Given the description of an element on the screen output the (x, y) to click on. 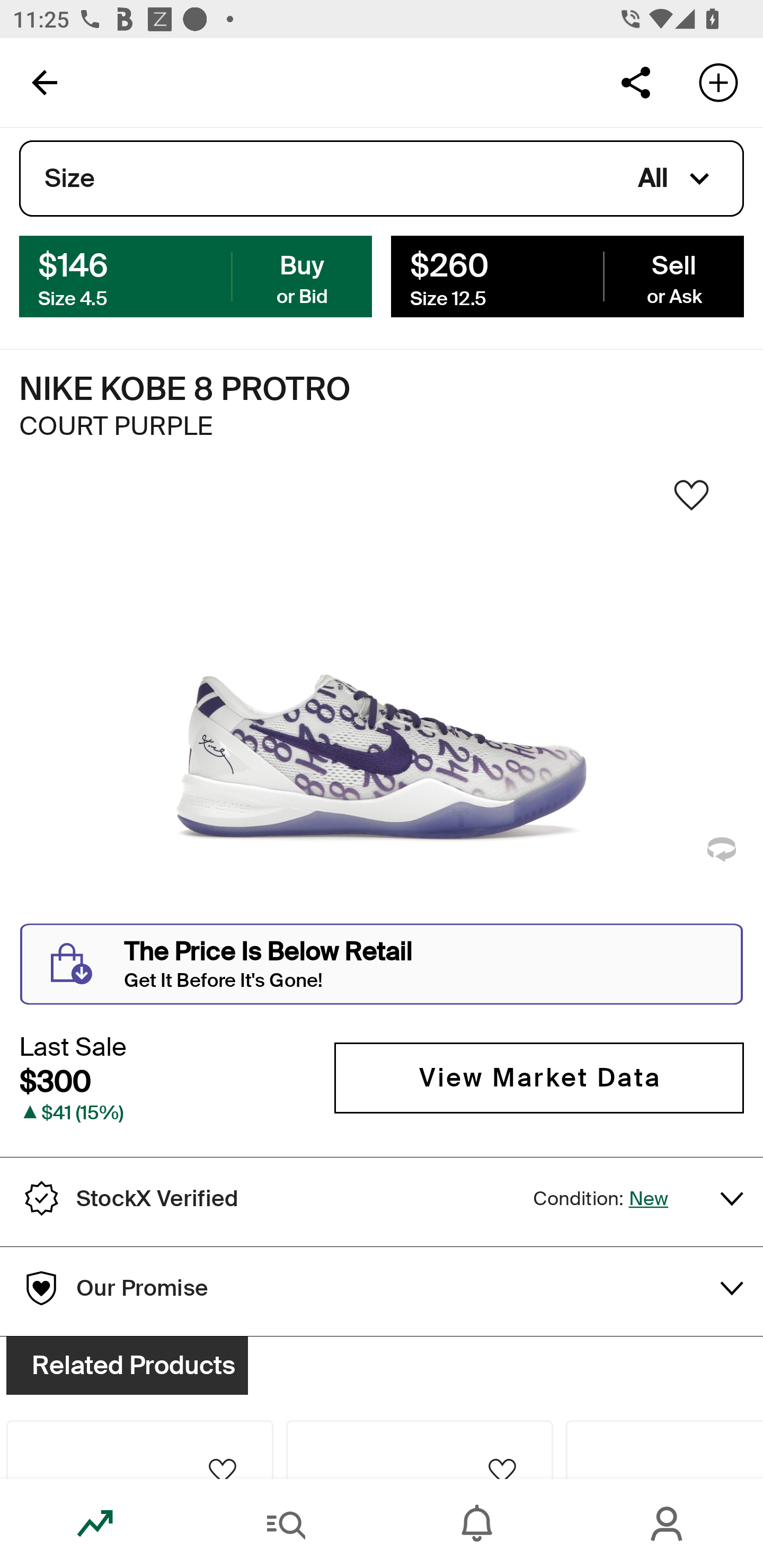
Share (635, 81)
Add (718, 81)
Size All (381, 178)
$146 Buy Size 4.5 or Bid (195, 275)
$260 Sell Size 12.5 or Ask (566, 275)
Sneaker Image (381, 699)
View Market Data (538, 1077)
Search (285, 1523)
Inbox (476, 1523)
Account (667, 1523)
